Given the description of an element on the screen output the (x, y) to click on. 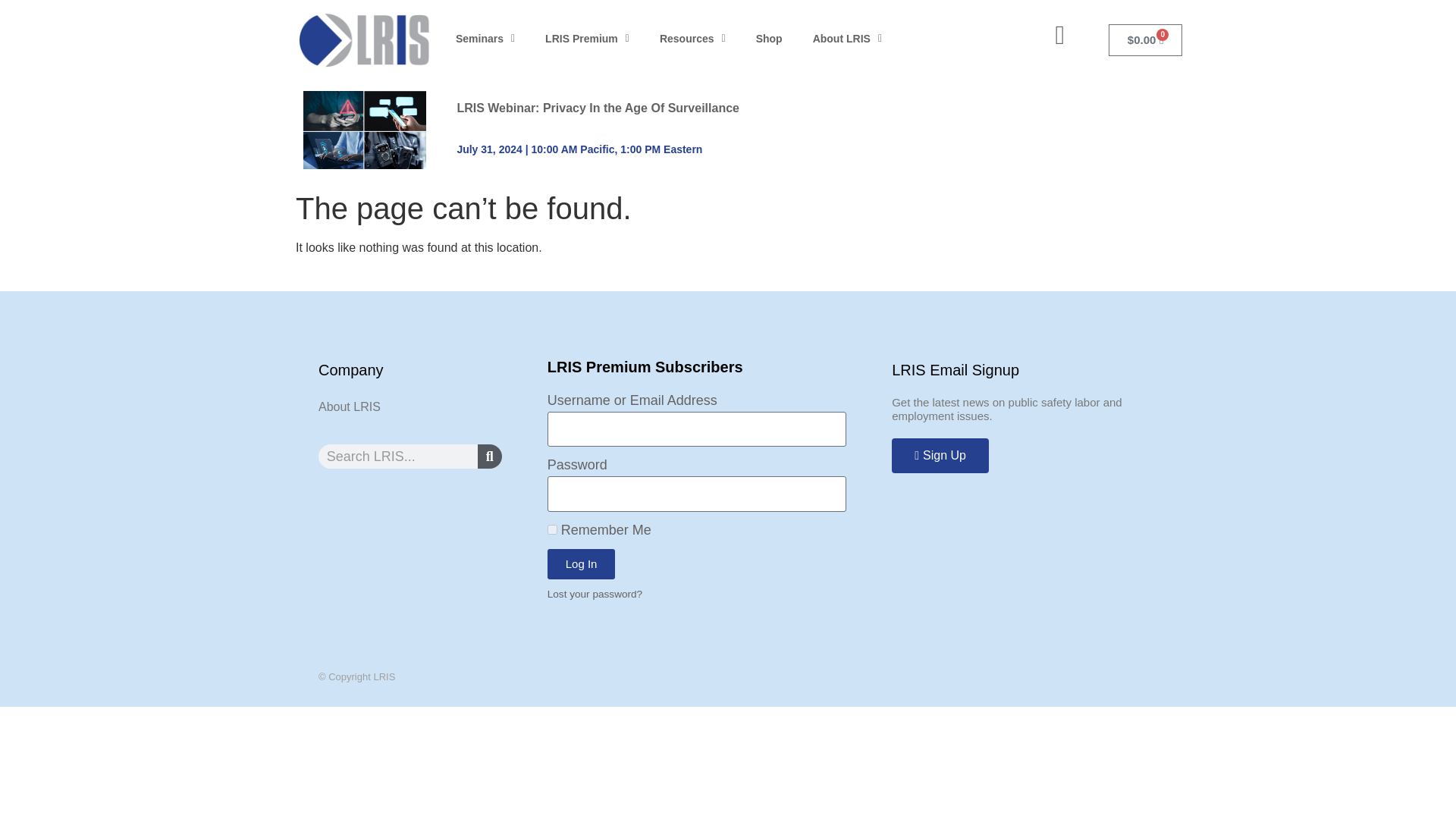
LRIScropped.png (338, 40)
About LRIS (806, 38)
LRIS Premium (569, 38)
Shop (734, 38)
forever (552, 529)
Seminars (479, 38)
Resources (663, 38)
